Given the description of an element on the screen output the (x, y) to click on. 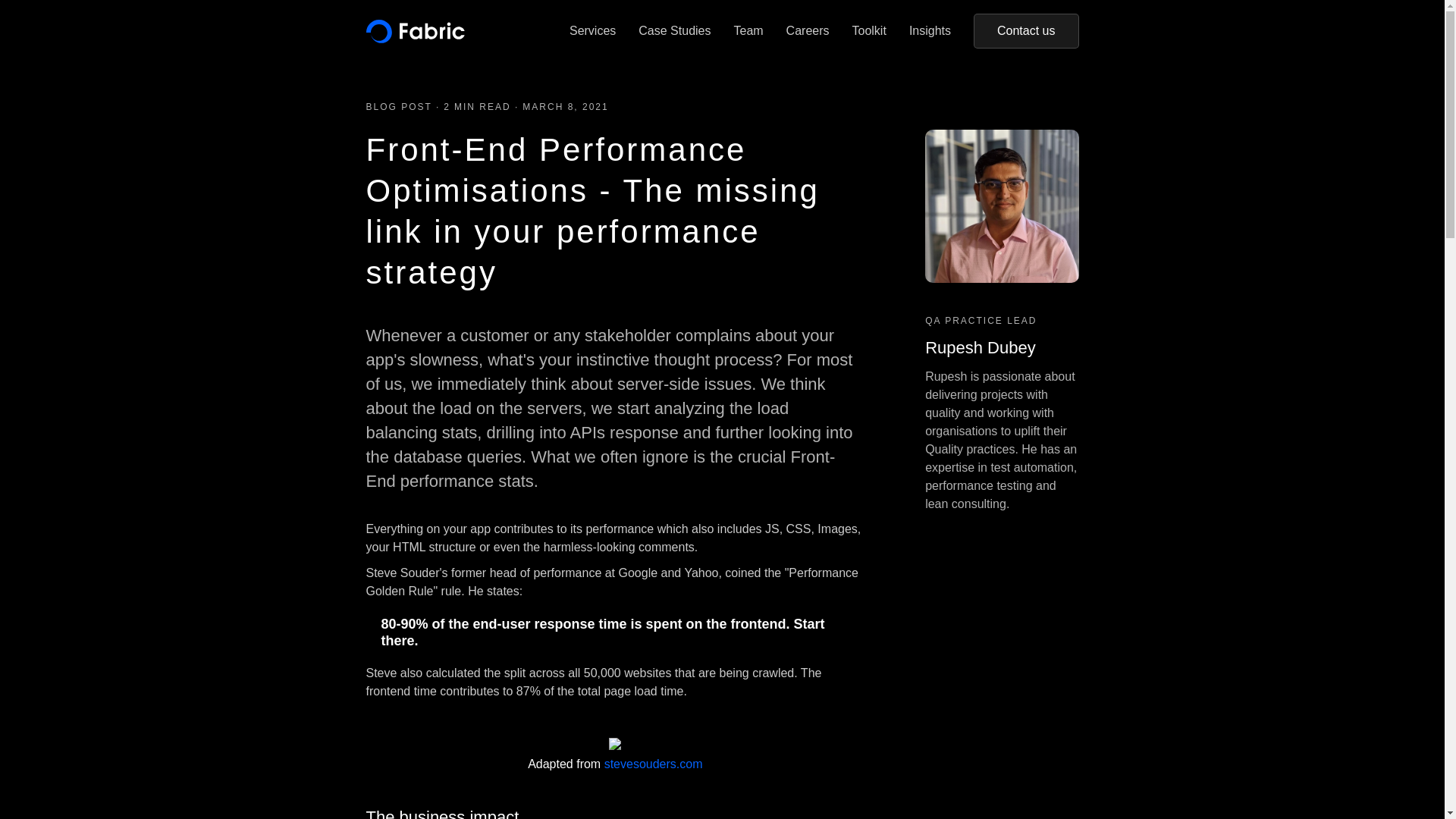
Insights Element type: text (929, 30)
Careers Element type: text (807, 30)
Services Element type: text (592, 30)
stevesouders.com Element type: text (653, 763)
Case Studies Element type: text (674, 30)
Team Element type: text (747, 30)
Toolkit Element type: text (869, 30)
Contact us Element type: text (1025, 30)
